Given the description of an element on the screen output the (x, y) to click on. 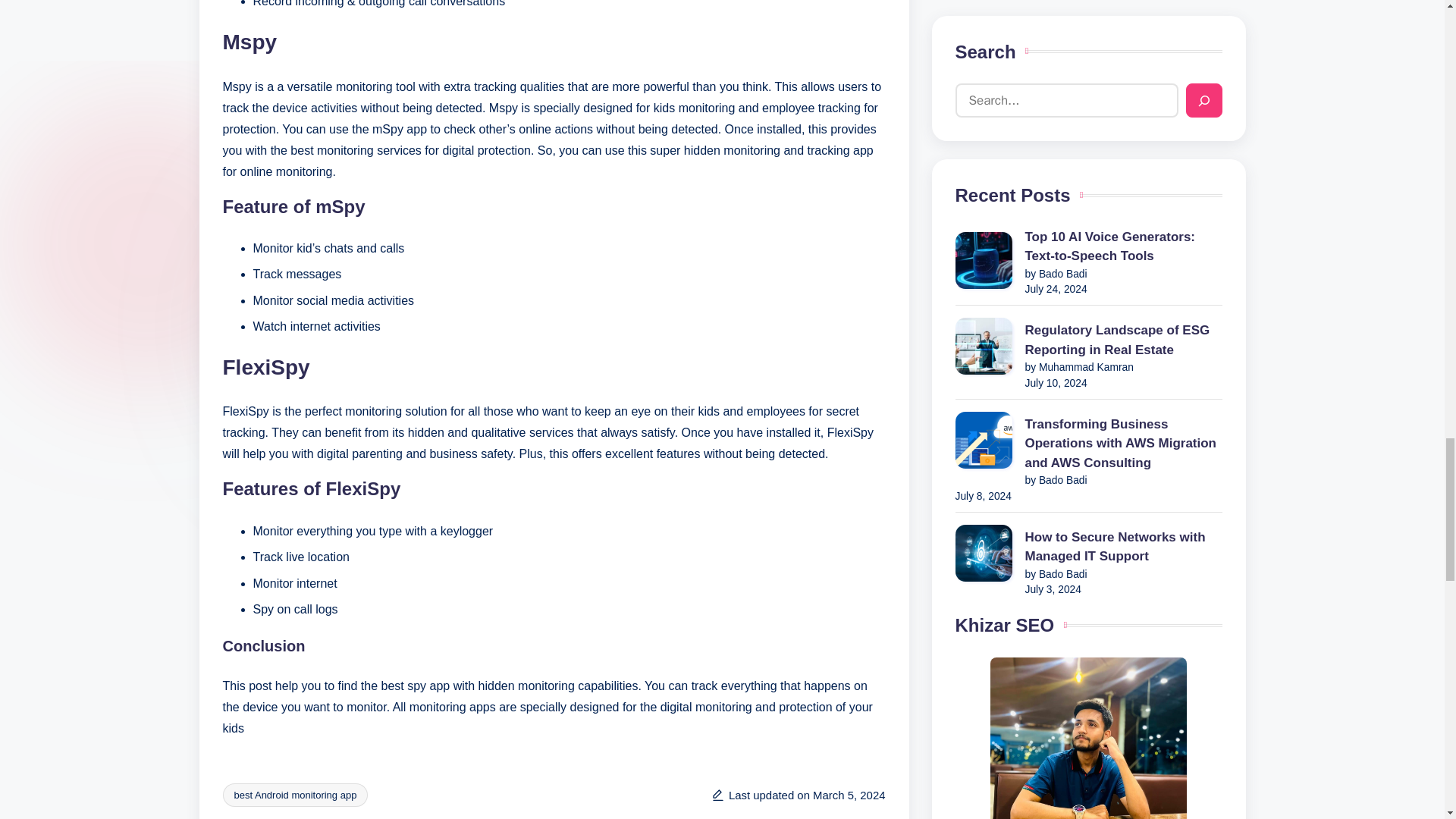
best Android monitoring app (295, 794)
